Given the description of an element on the screen output the (x, y) to click on. 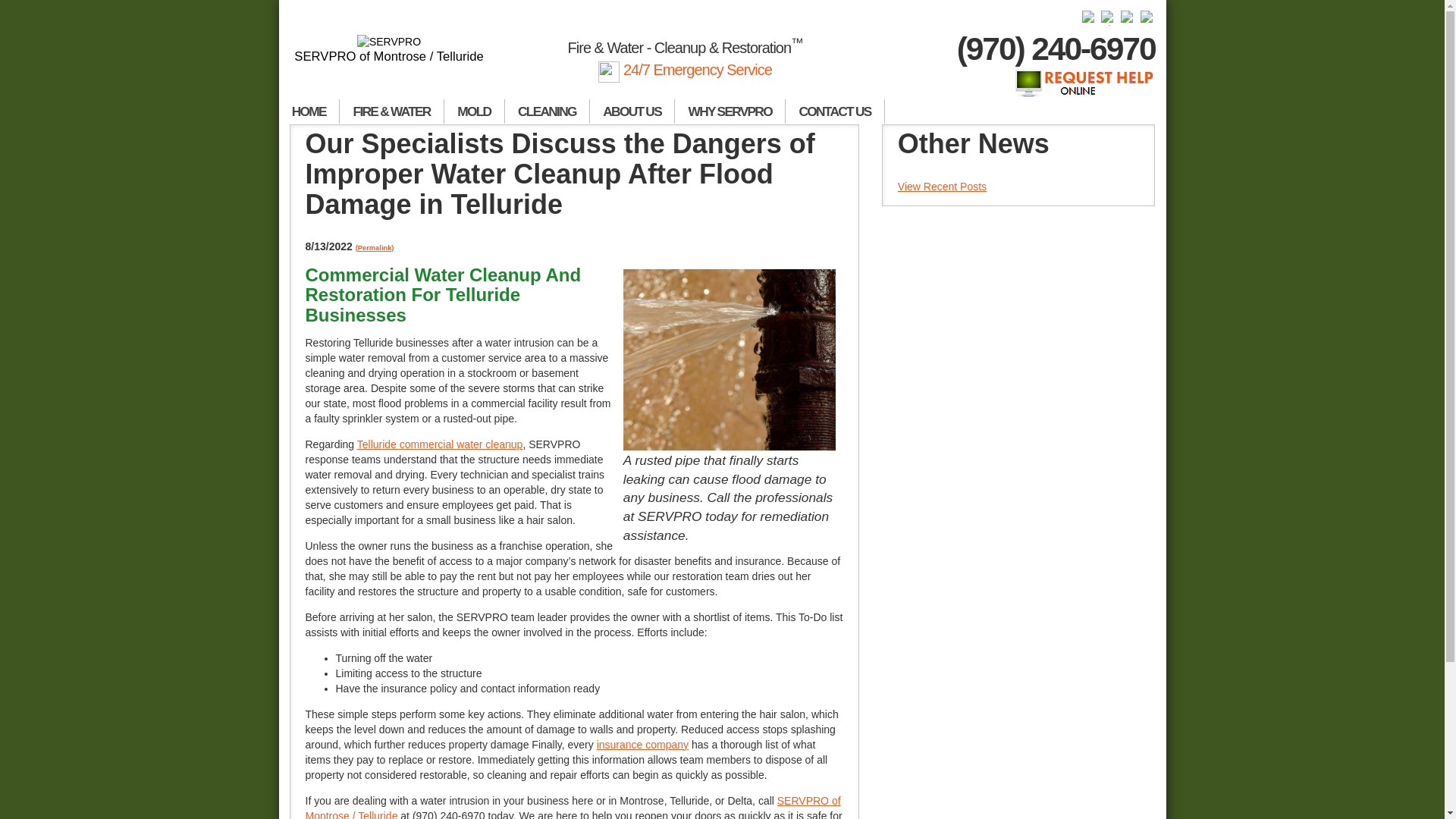
ABOUT US (632, 111)
CLEANING (547, 111)
HOME (309, 111)
MOLD (474, 111)
